Given the description of an element on the screen output the (x, y) to click on. 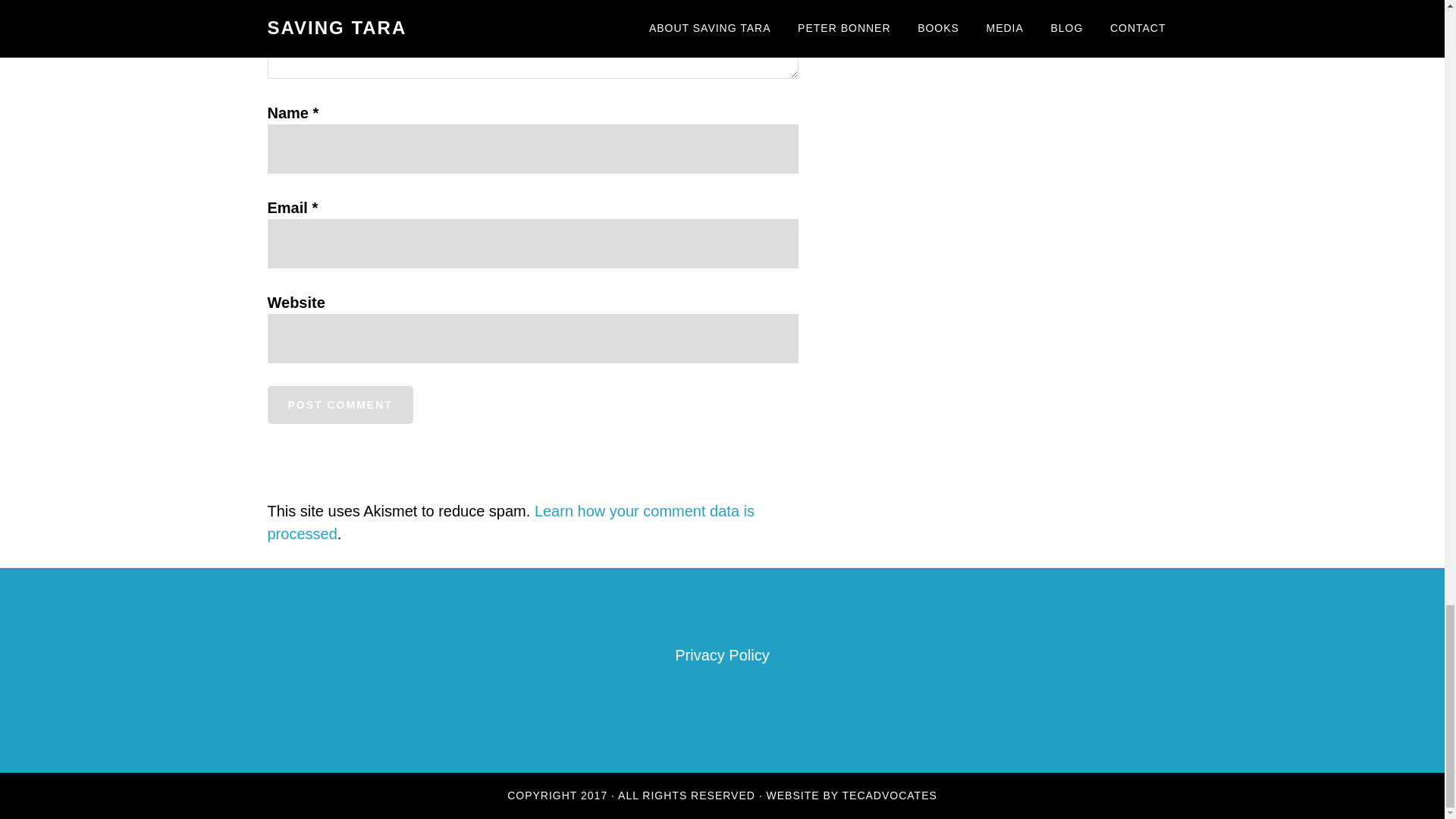
Learn how your comment data is processed (510, 522)
Post Comment (339, 404)
Privacy Policy (721, 655)
TECADVOCATES (890, 795)
Post Comment (339, 404)
